Given the description of an element on the screen output the (x, y) to click on. 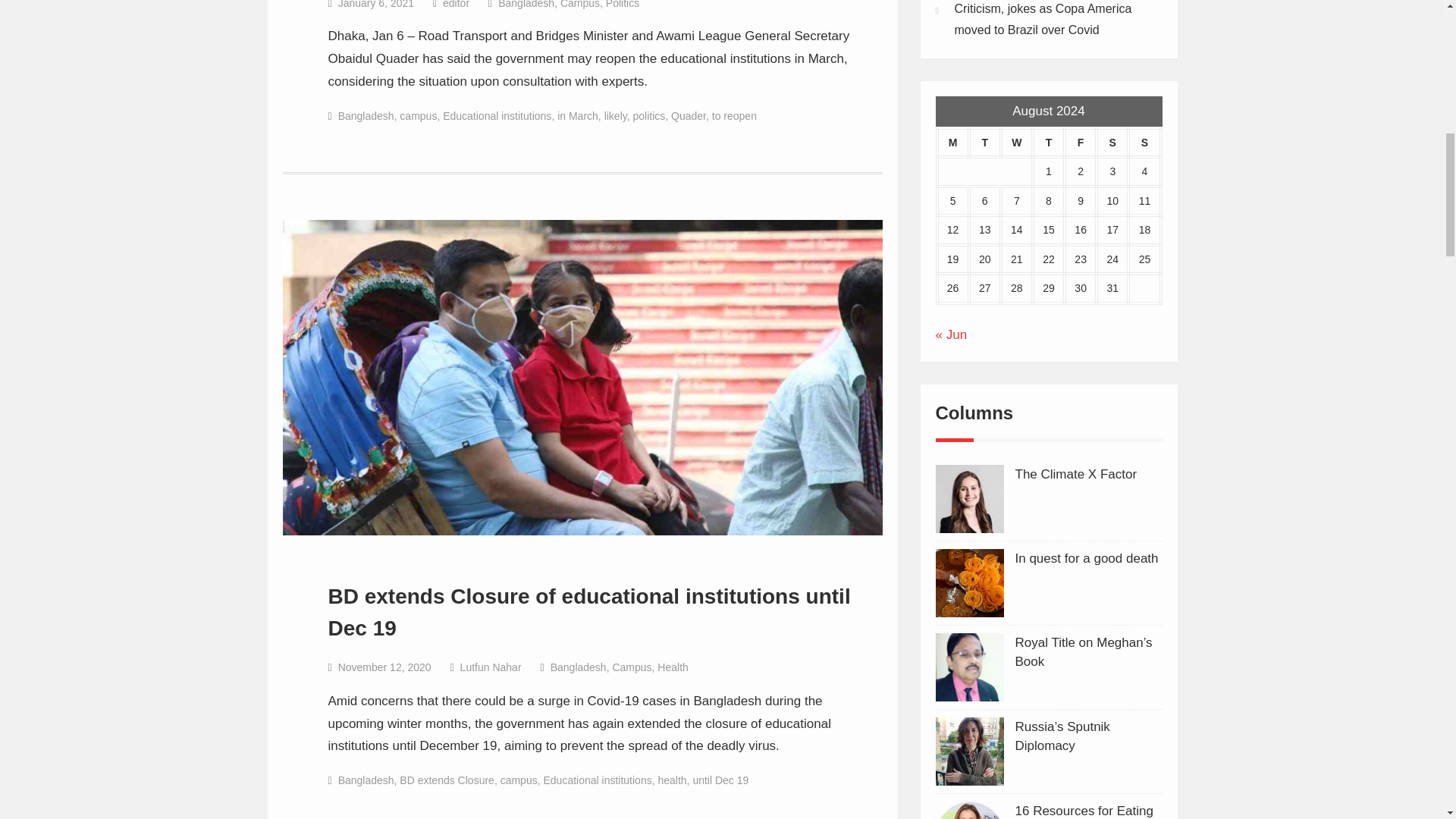
Monday (953, 142)
Thursday (1048, 142)
Friday (1080, 142)
Saturday (1112, 142)
Wednesday (1016, 142)
Sunday (1144, 142)
Tuesday (985, 142)
